Given the description of an element on the screen output the (x, y) to click on. 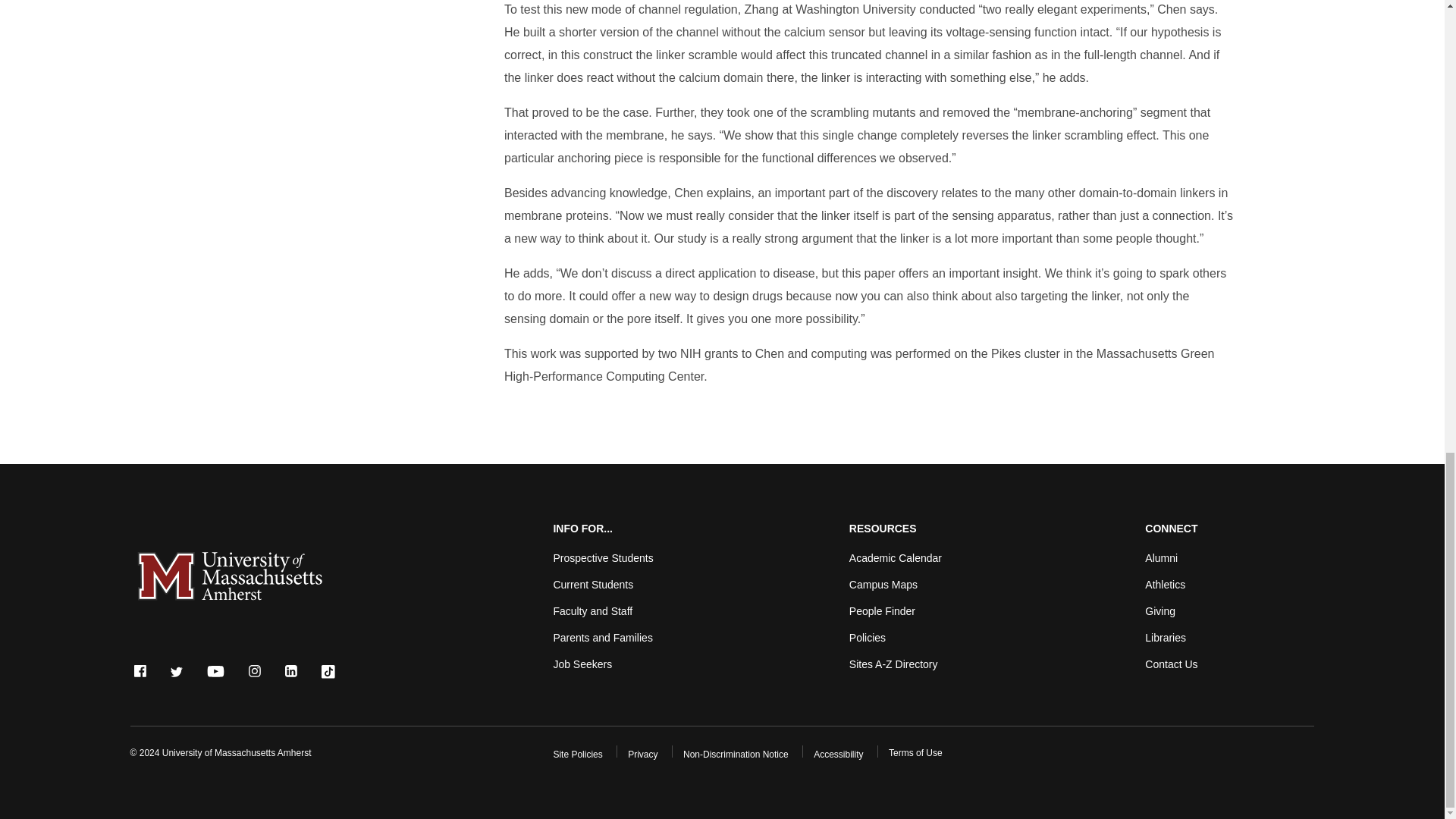
A-Z Directory (892, 664)
Click here for info for faculty and staff (592, 611)
UMass Amherst privacy policy (642, 754)
UMass Amherst non-discrimination policies (735, 754)
Click here for info for current students (593, 584)
Click here for info for parents and families (602, 637)
Info for Job Seekers (582, 664)
